Given the description of an element on the screen output the (x, y) to click on. 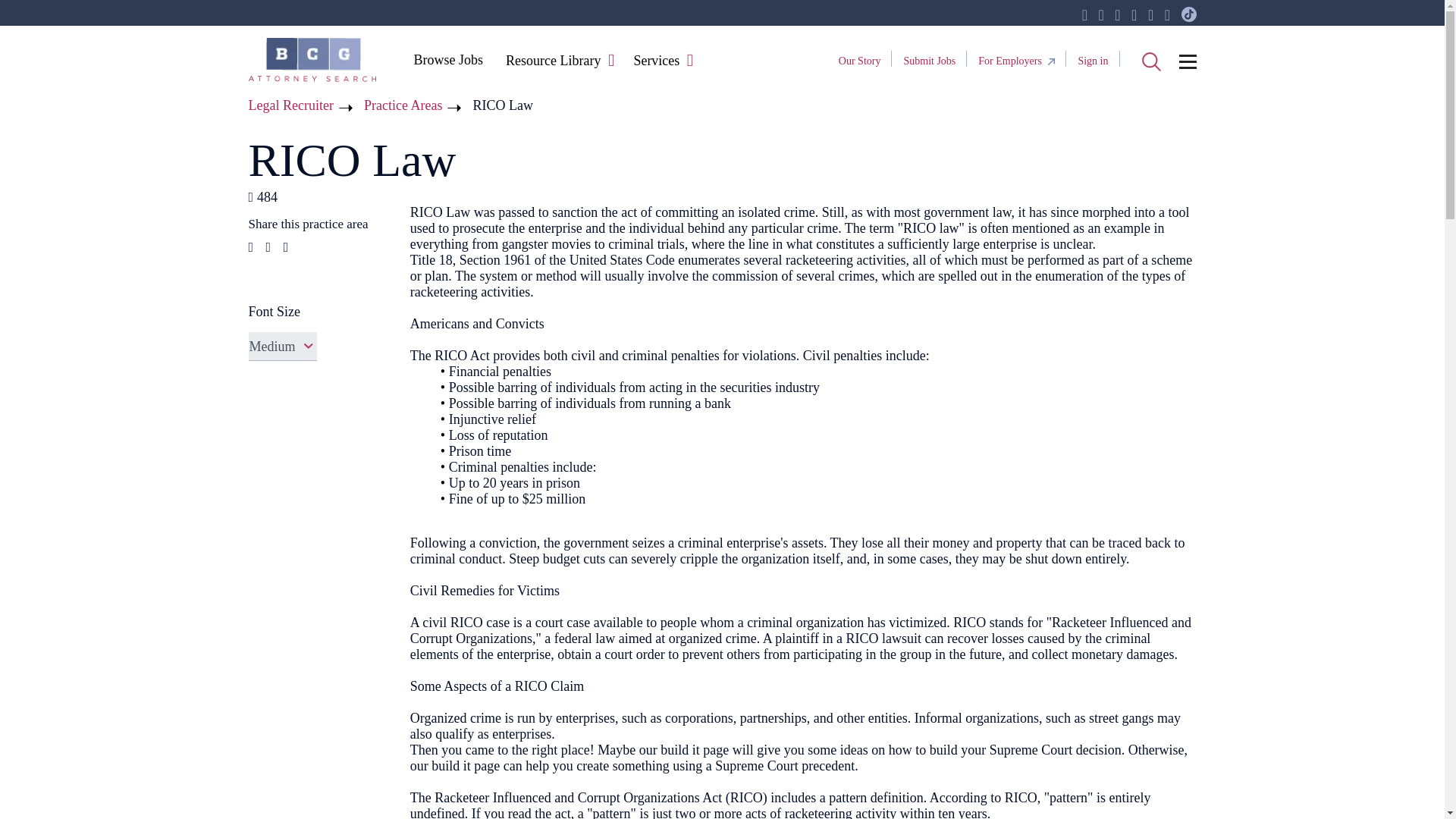
Services (655, 61)
Resource Library (553, 61)
Browse Jobs (448, 59)
BCG Attorney Search Tiktok (1188, 14)
